Given the description of an element on the screen output the (x, y) to click on. 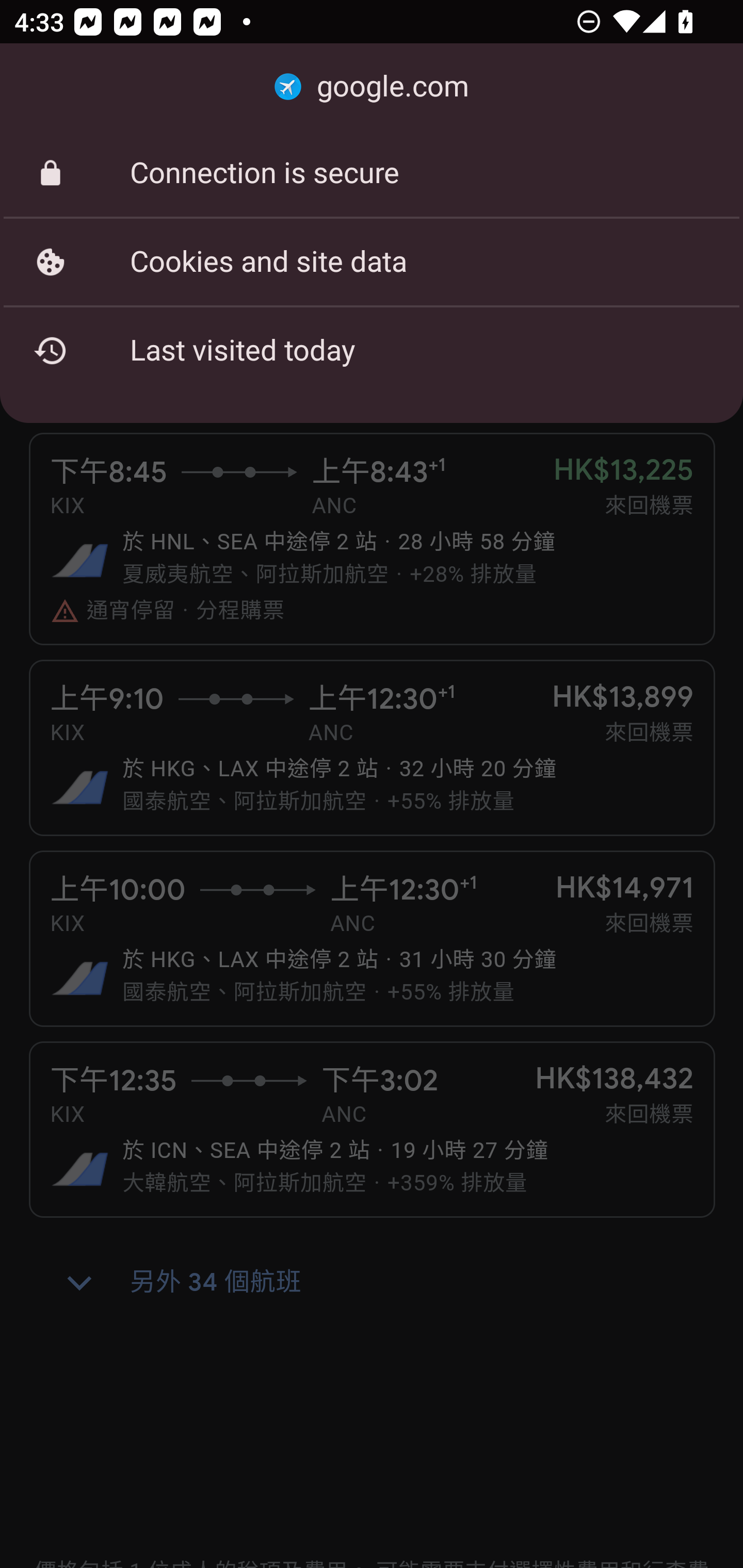
google.com (371, 86)
Connection is secure (371, 173)
Cookies and site data (371, 261)
Last visited today (371, 350)
